Given the description of an element on the screen output the (x, y) to click on. 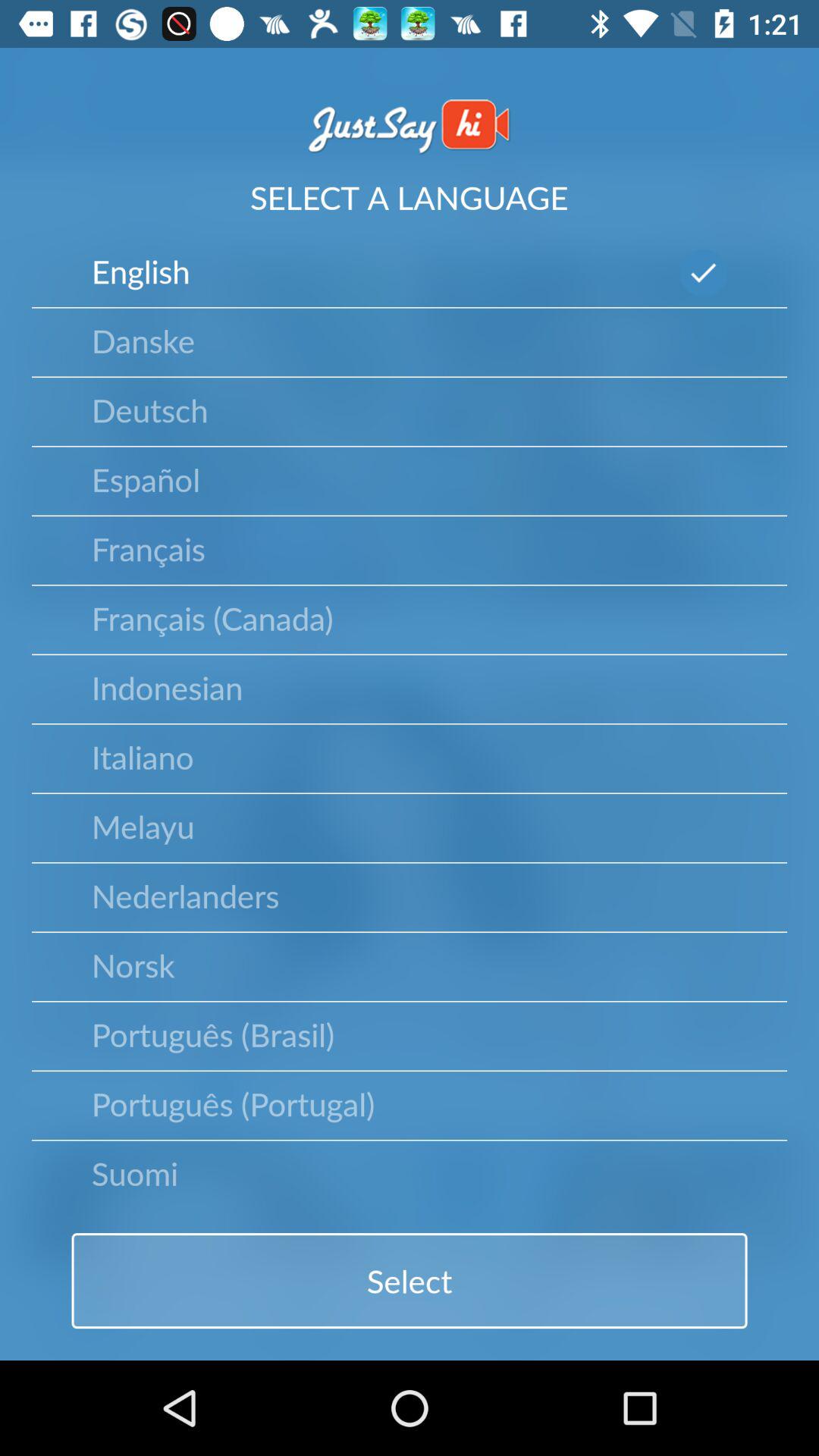
flip to the melayu item (142, 826)
